Given the description of an element on the screen output the (x, y) to click on. 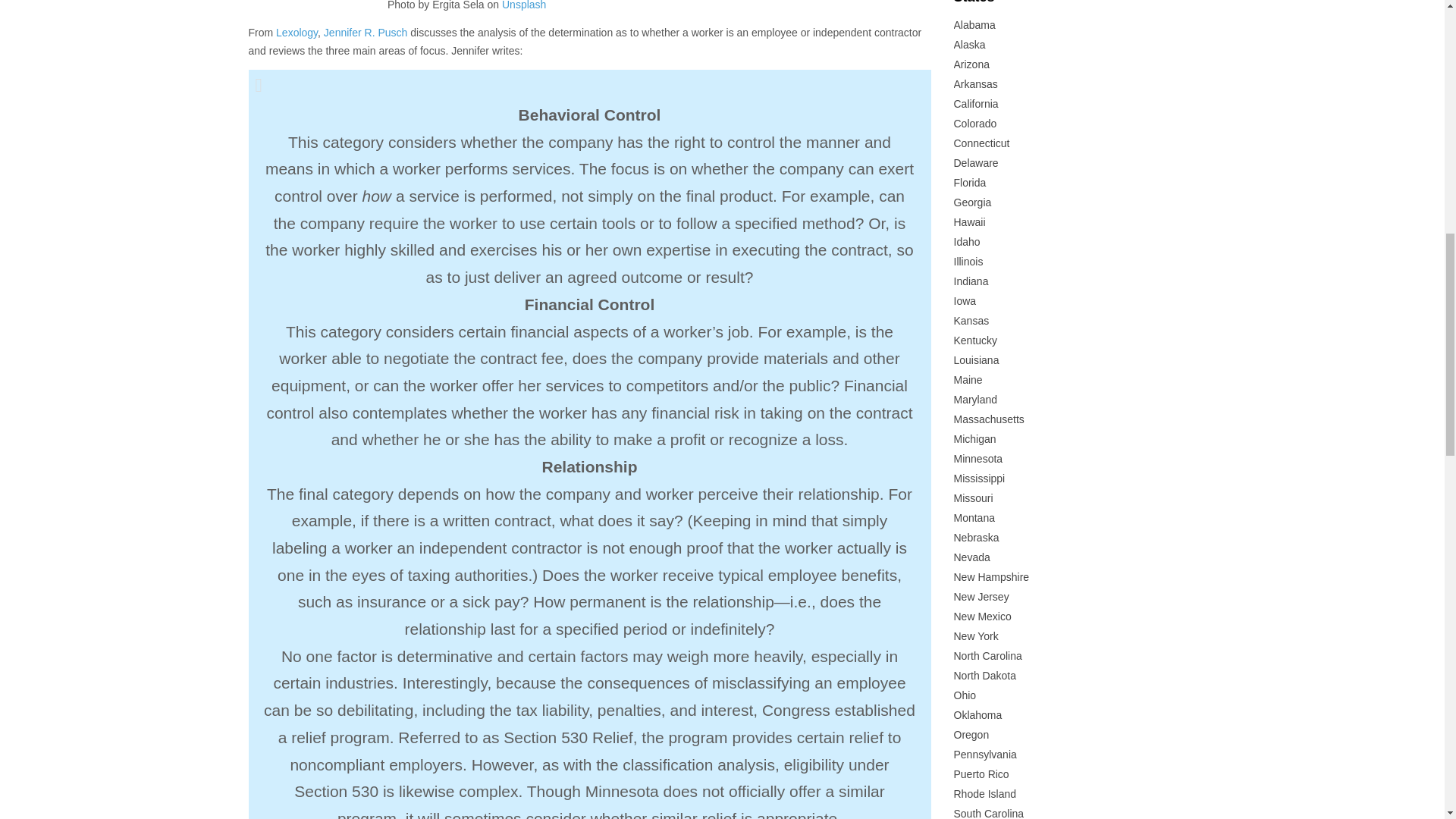
Colorado (975, 123)
Idaho (966, 241)
Illinois (968, 261)
Hawaii (969, 222)
Unsplash (524, 5)
California (975, 103)
Connecticut (981, 143)
Alabama (974, 24)
Indiana (970, 281)
Florida (970, 182)
